Given the description of an element on the screen output the (x, y) to click on. 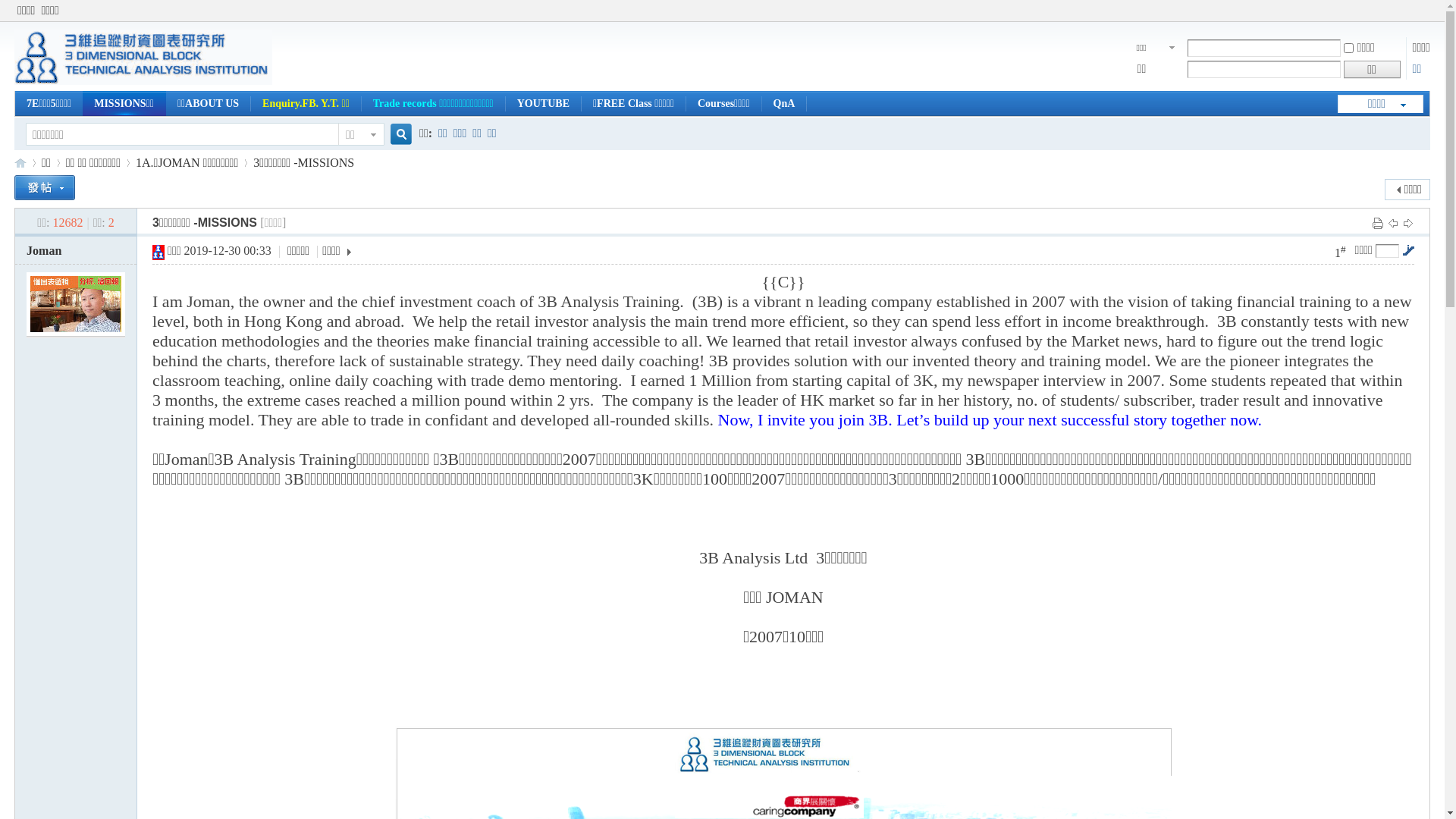
YOUTUBE Element type: text (542, 103)
1# Element type: text (1340, 251)
Joman Element type: text (43, 250)
QnA Element type: text (784, 103)
true Element type: text (396, 134)
